Given the description of an element on the screen output the (x, y) to click on. 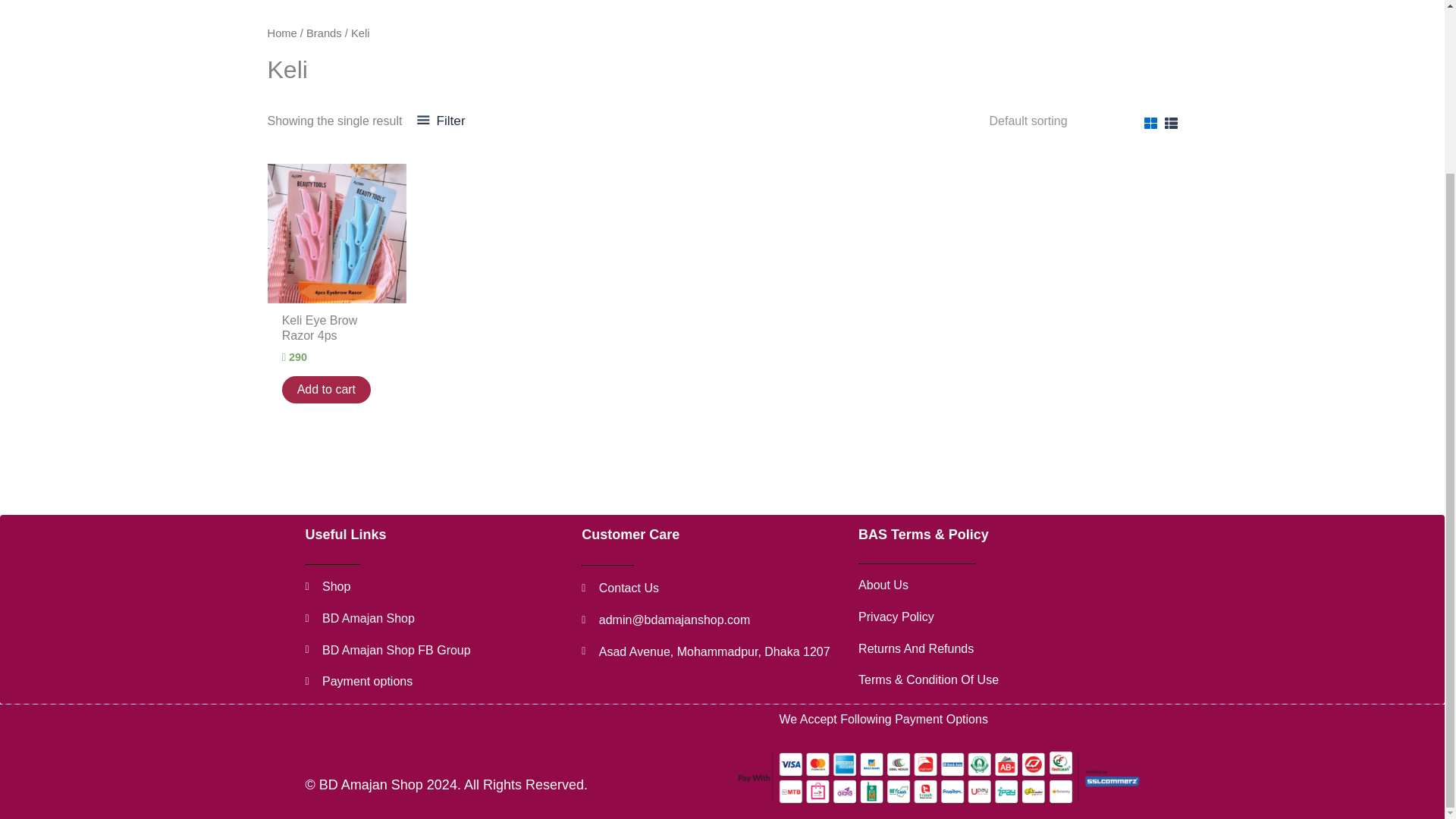
Add to cart (326, 389)
Privacy Policy (1005, 617)
About Us (1005, 585)
BD Amajan Shop (435, 618)
Home (281, 33)
BD Amajan Shop FB Group (435, 650)
Contact Us (711, 588)
Shop (435, 586)
Returns And Refunds (1005, 649)
Payment options (435, 681)
